Given the description of an element on the screen output the (x, y) to click on. 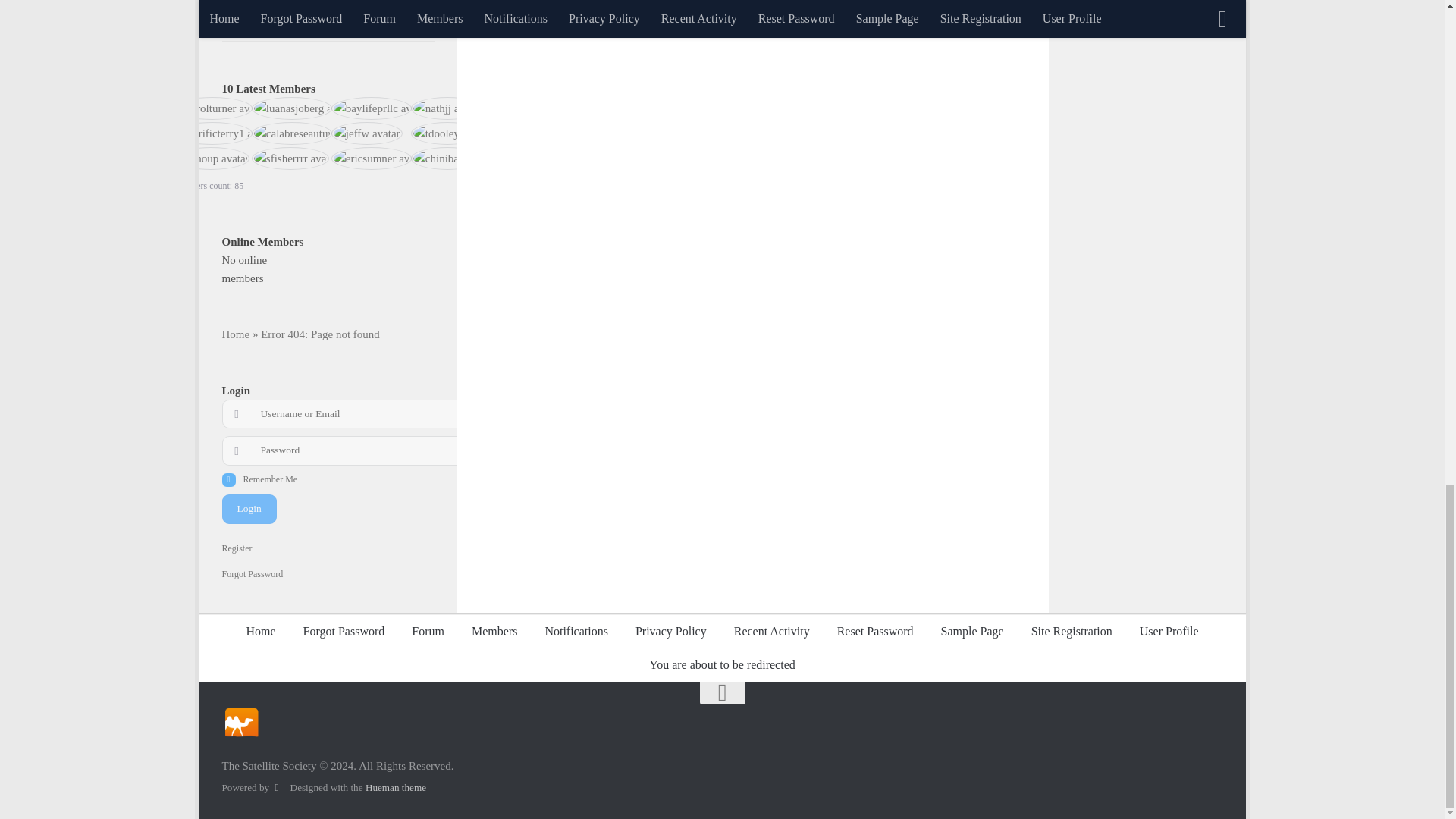
Powered by WordPress (275, 787)
Hueman theme (395, 787)
